Given the description of an element on the screen output the (x, y) to click on. 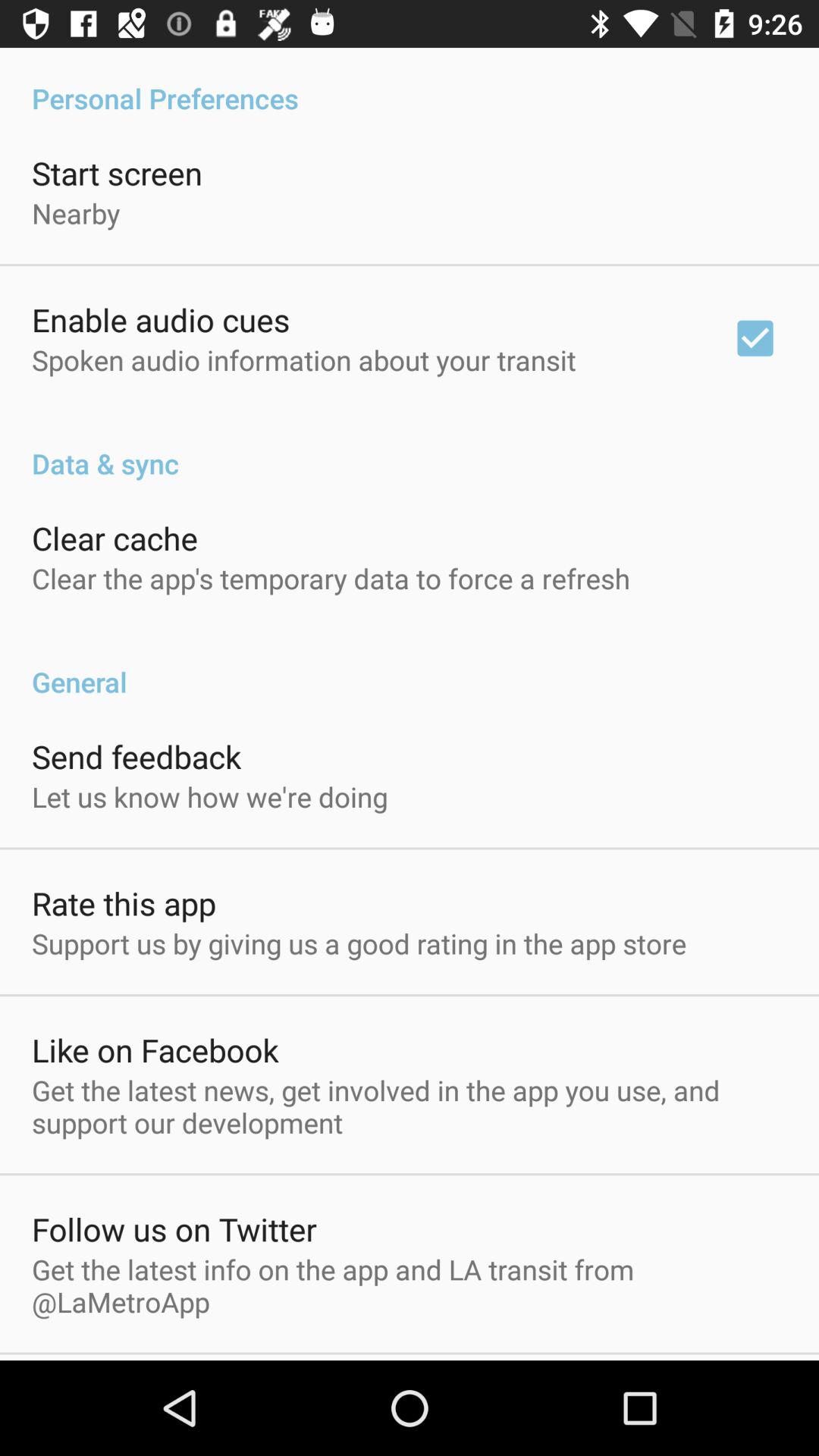
click icon below spoken audio information (409, 447)
